Given the description of an element on the screen output the (x, y) to click on. 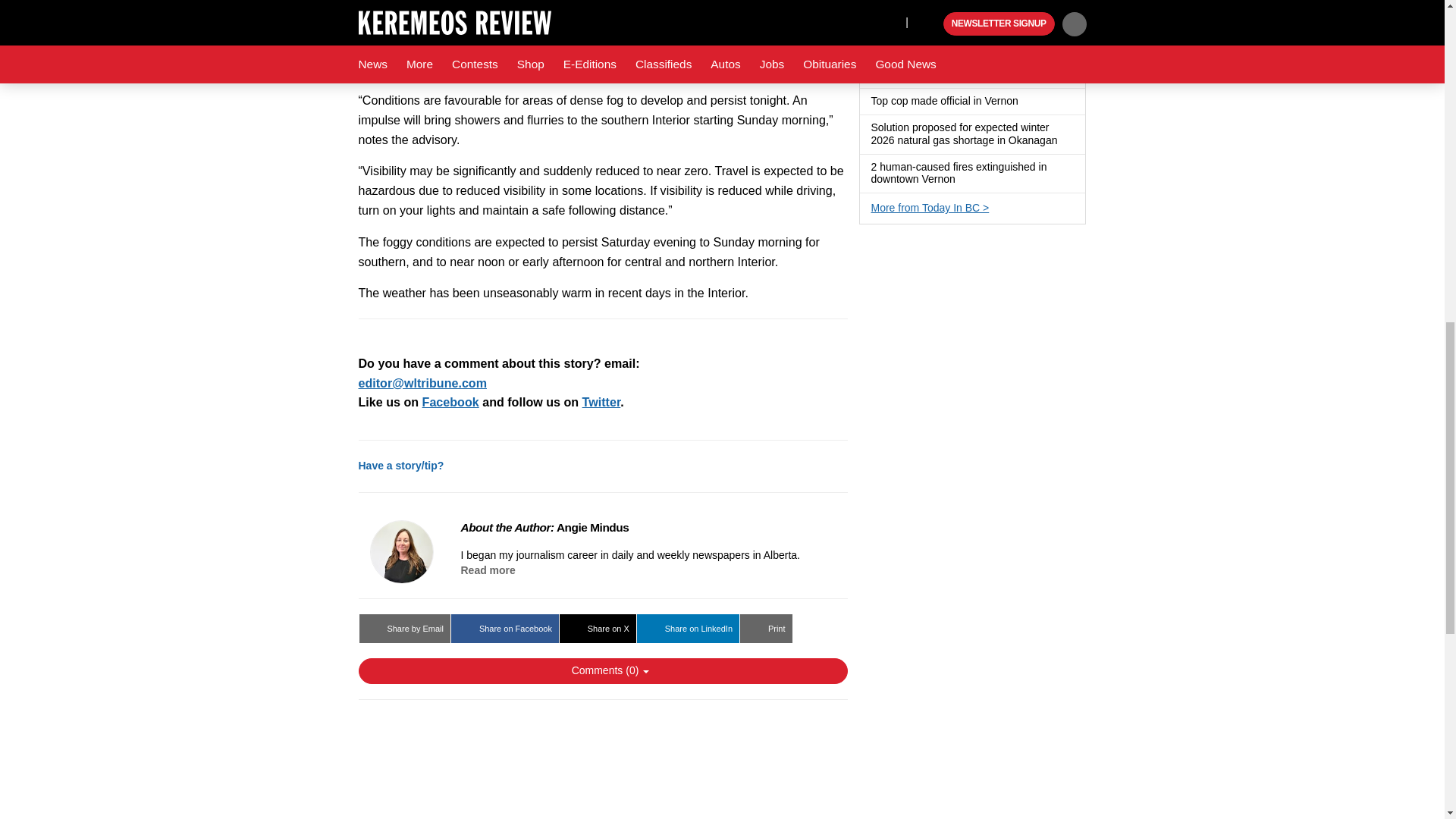
Show Comments (602, 670)
